Given the description of an element on the screen output the (x, y) to click on. 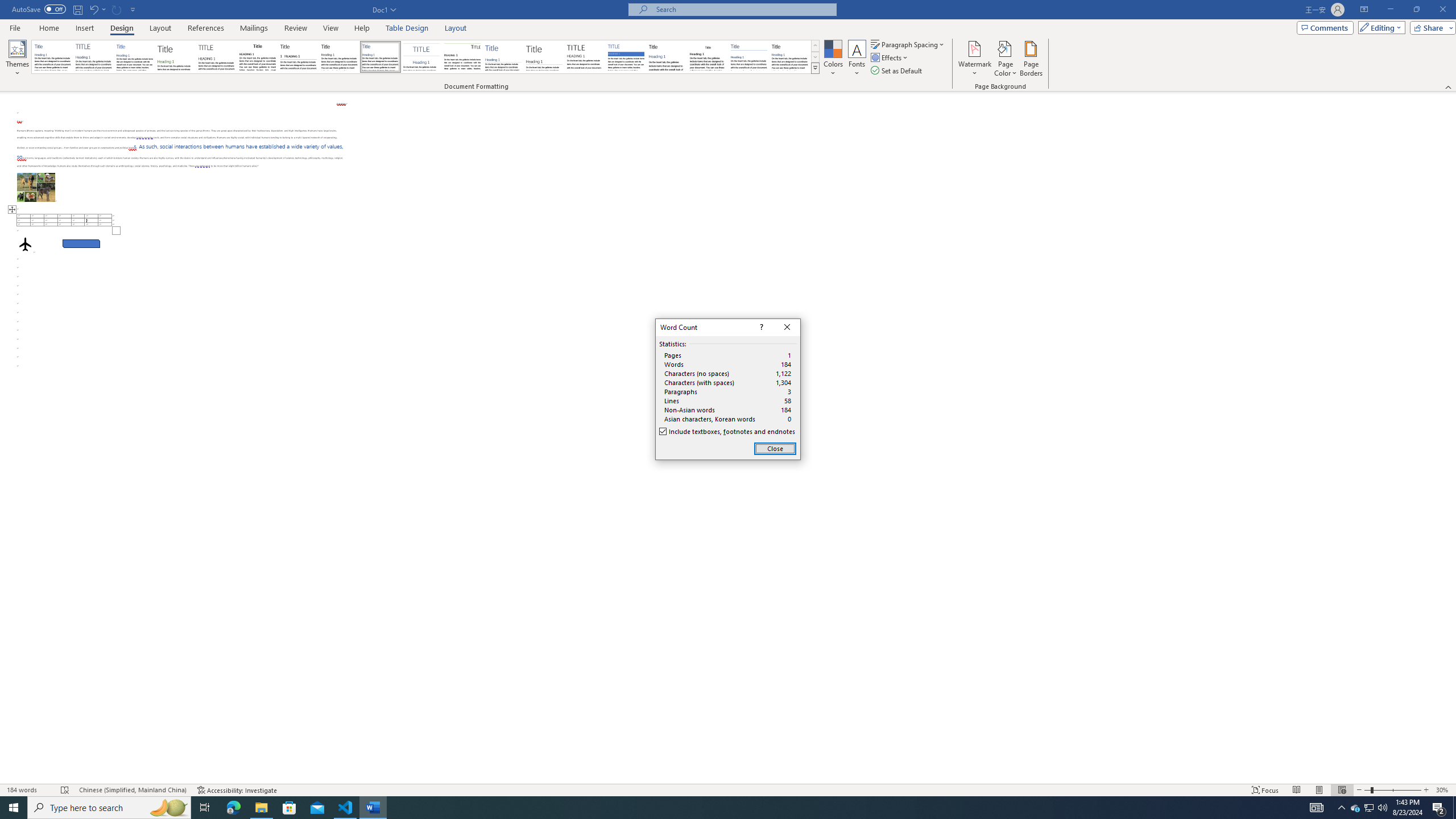
Basic (Stylish) (175, 56)
Shaded (625, 56)
Lines (Distinctive) (462, 56)
